Given the description of an element on the screen output the (x, y) to click on. 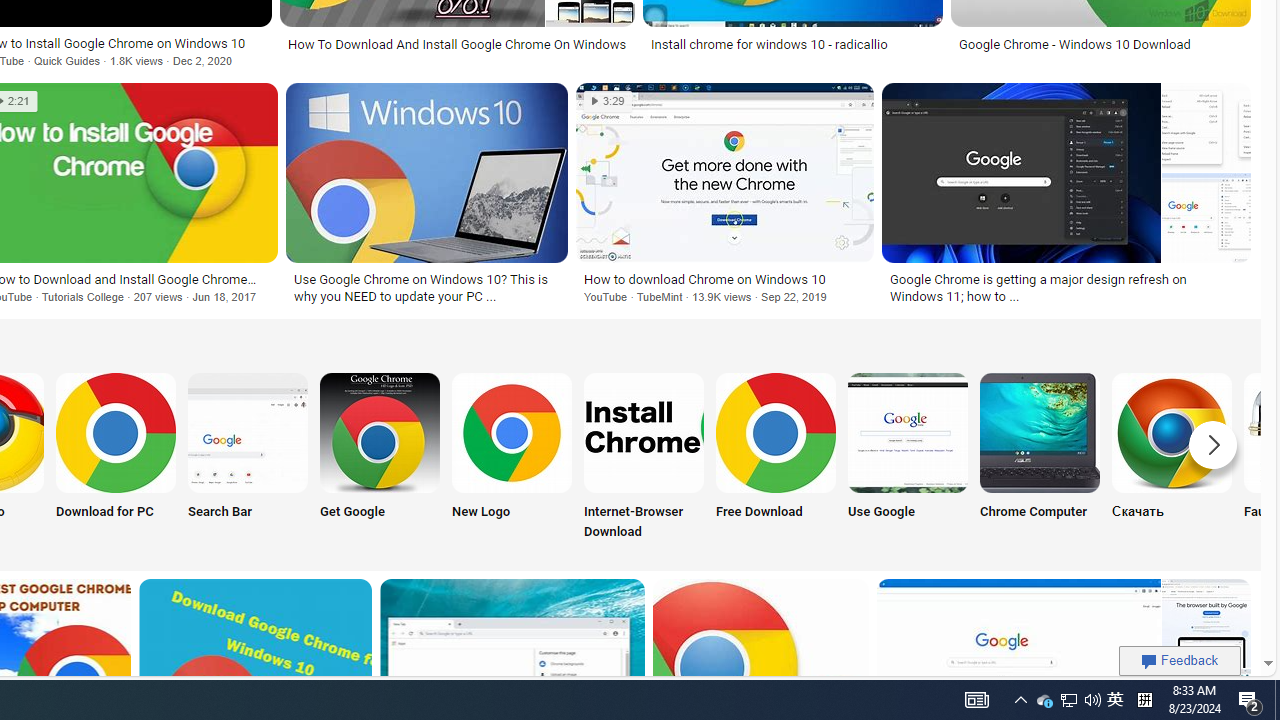
Internet-Browser Download (643, 457)
Chrome Search Bar Search Bar (248, 458)
Chrome Computer Chrome Computer (1039, 458)
How to download Chrome on Windows 10 (724, 279)
Get Google Chrome Get Google (380, 458)
Get Google (380, 457)
Google Chrome - Windows 10 Download (1074, 44)
How To Download And Install Google Chrome On Windows (457, 44)
Search Bar (248, 457)
Chrome Computer (1039, 432)
Get Google Chrome (380, 432)
How To Download And Install Google Chrome On Windows (457, 44)
